Given the description of an element on the screen output the (x, y) to click on. 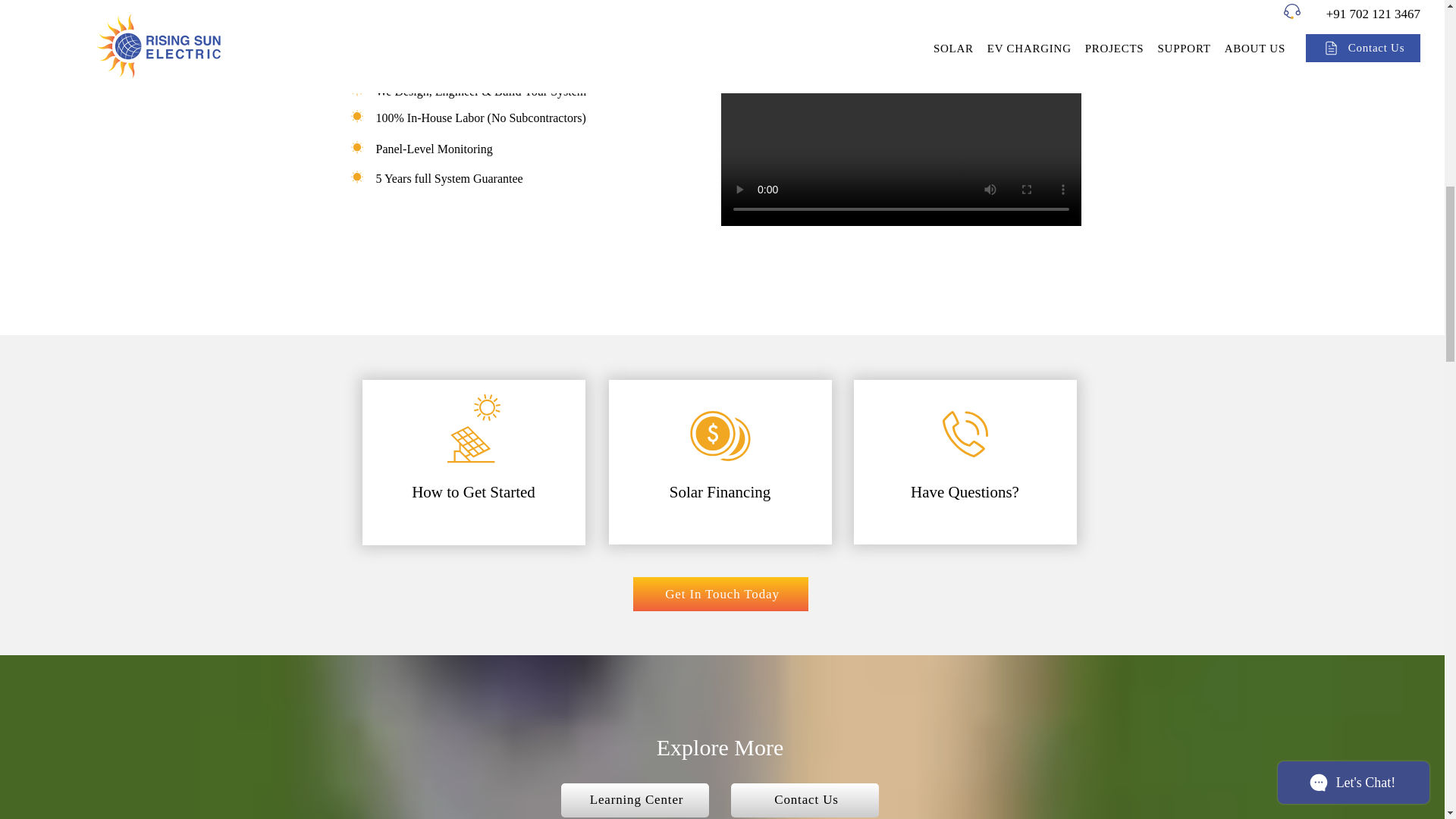
Learning Center (634, 799)
Get In Touch Today (719, 593)
Contact Us (804, 799)
